Given the description of an element on the screen output the (x, y) to click on. 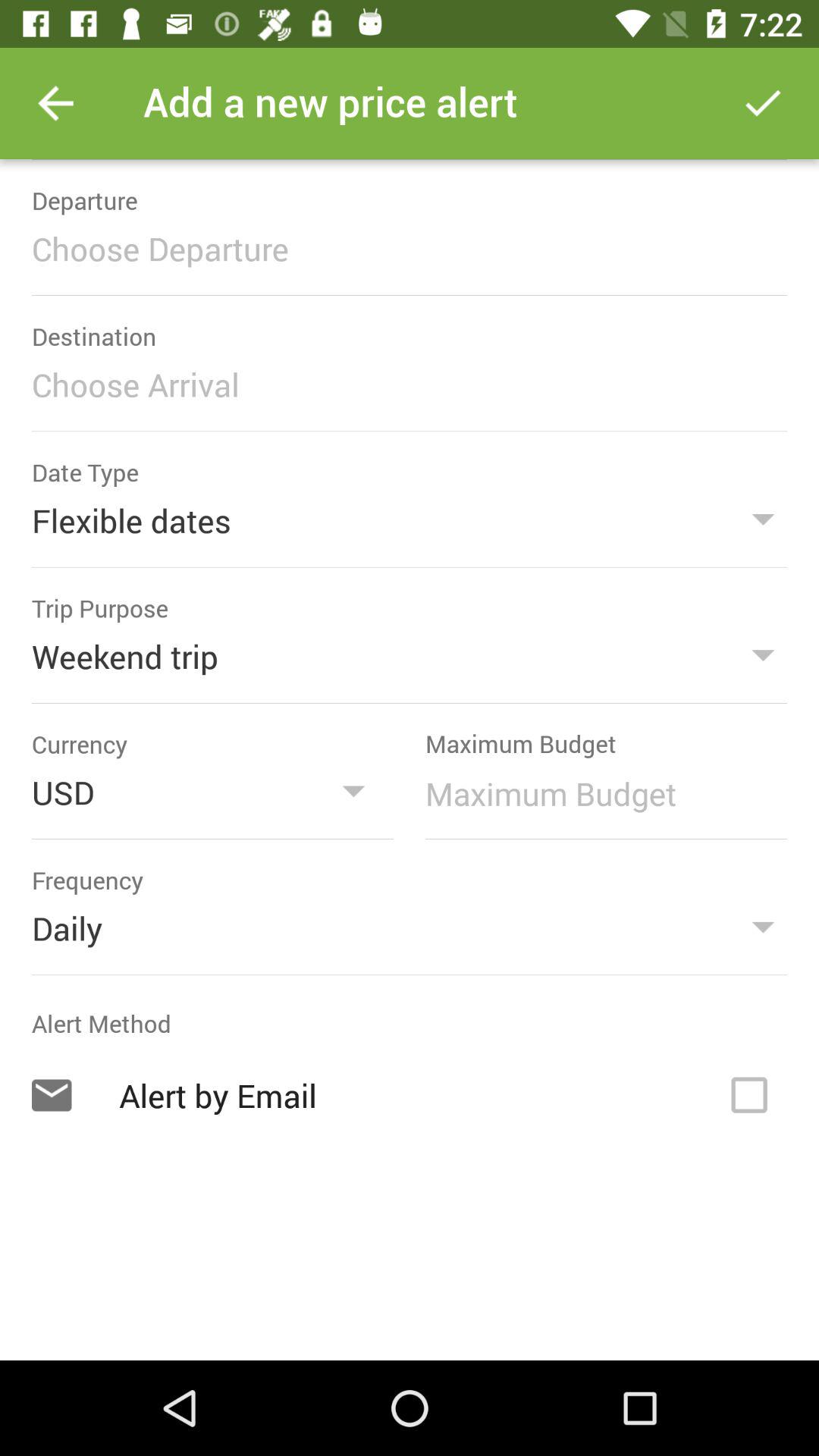
go to previous page (55, 103)
